Given the description of an element on the screen output the (x, y) to click on. 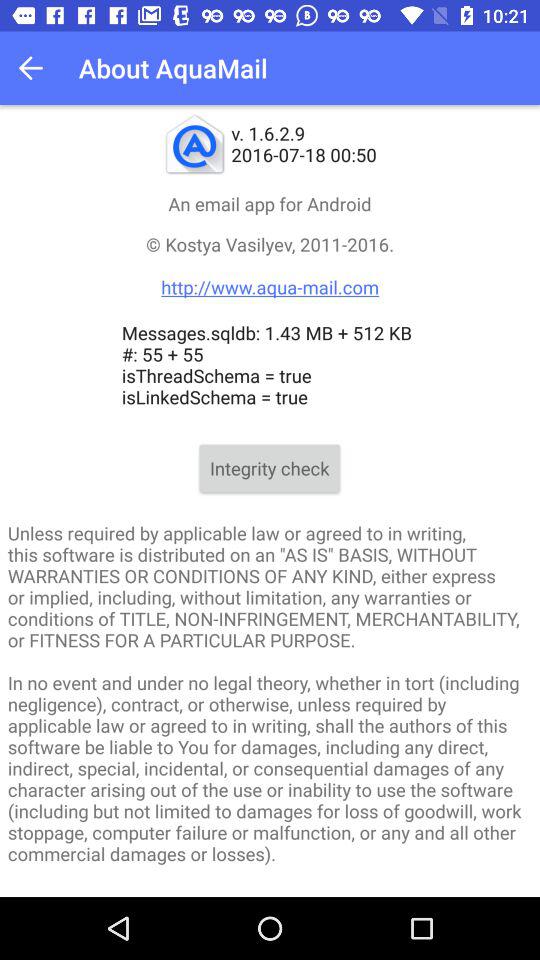
choose icon above the an email app item (36, 68)
